Given the description of an element on the screen output the (x, y) to click on. 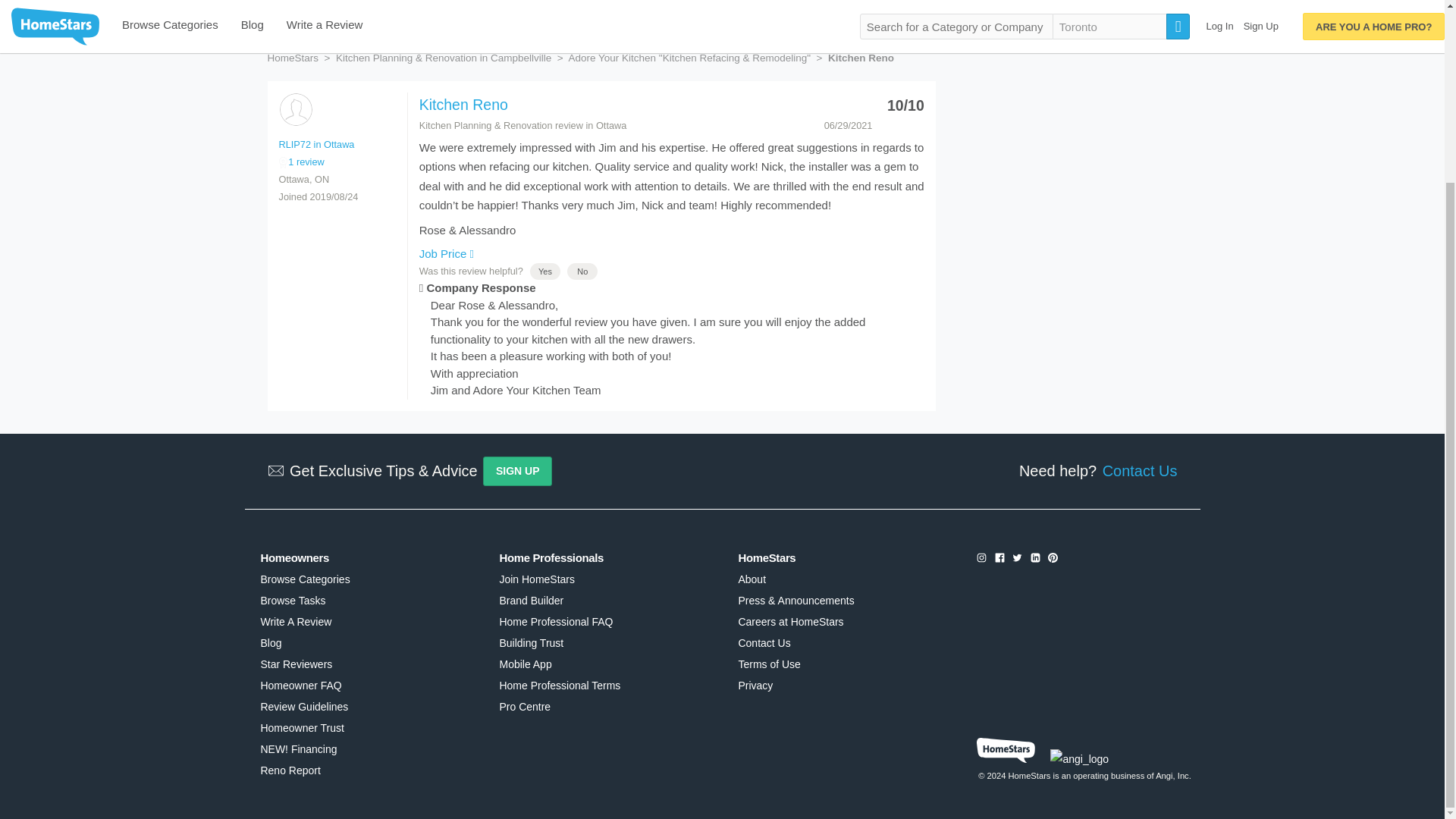
Write A Review (295, 621)
NEW! Financing (298, 748)
GET A QUOTE (998, 4)
Yes (545, 271)
Yes (545, 271)
Kitchen Reno (463, 104)
No (582, 271)
Home Professional FAQ (555, 621)
RLIP72 in Ottawa (295, 109)
Review Guidelines (303, 706)
